Given the description of an element on the screen output the (x, y) to click on. 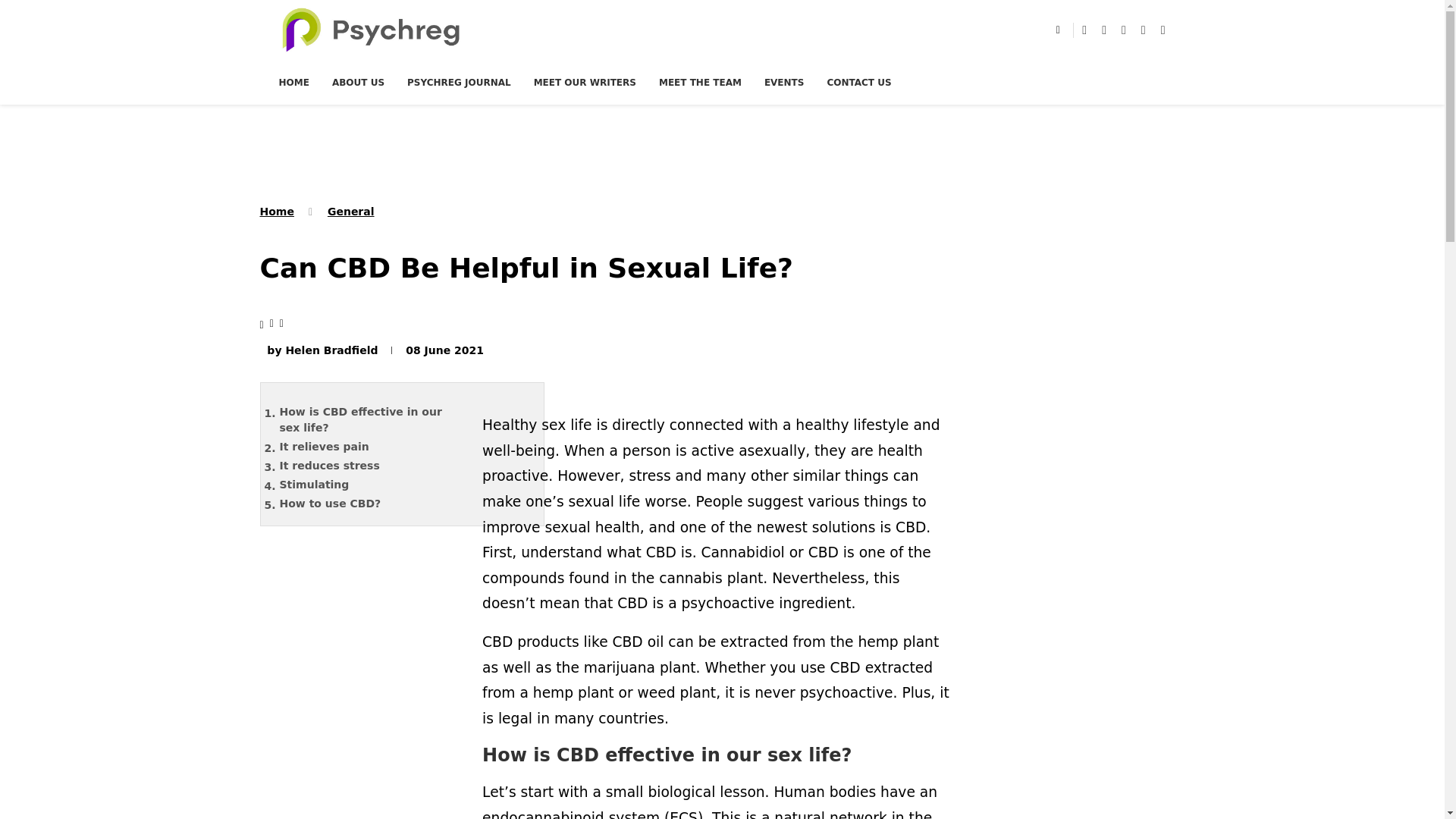
PSYCHREG JOURNAL (459, 82)
MEET THE TEAM (700, 82)
ABOUT US (357, 82)
MEET OUR WRITERS (585, 82)
CONTACT US (859, 82)
Stimulating (373, 484)
It reduces stress (373, 466)
How to use CBD? (373, 503)
It relieves pain (373, 446)
EVENTS (784, 82)
